Given the description of an element on the screen output the (x, y) to click on. 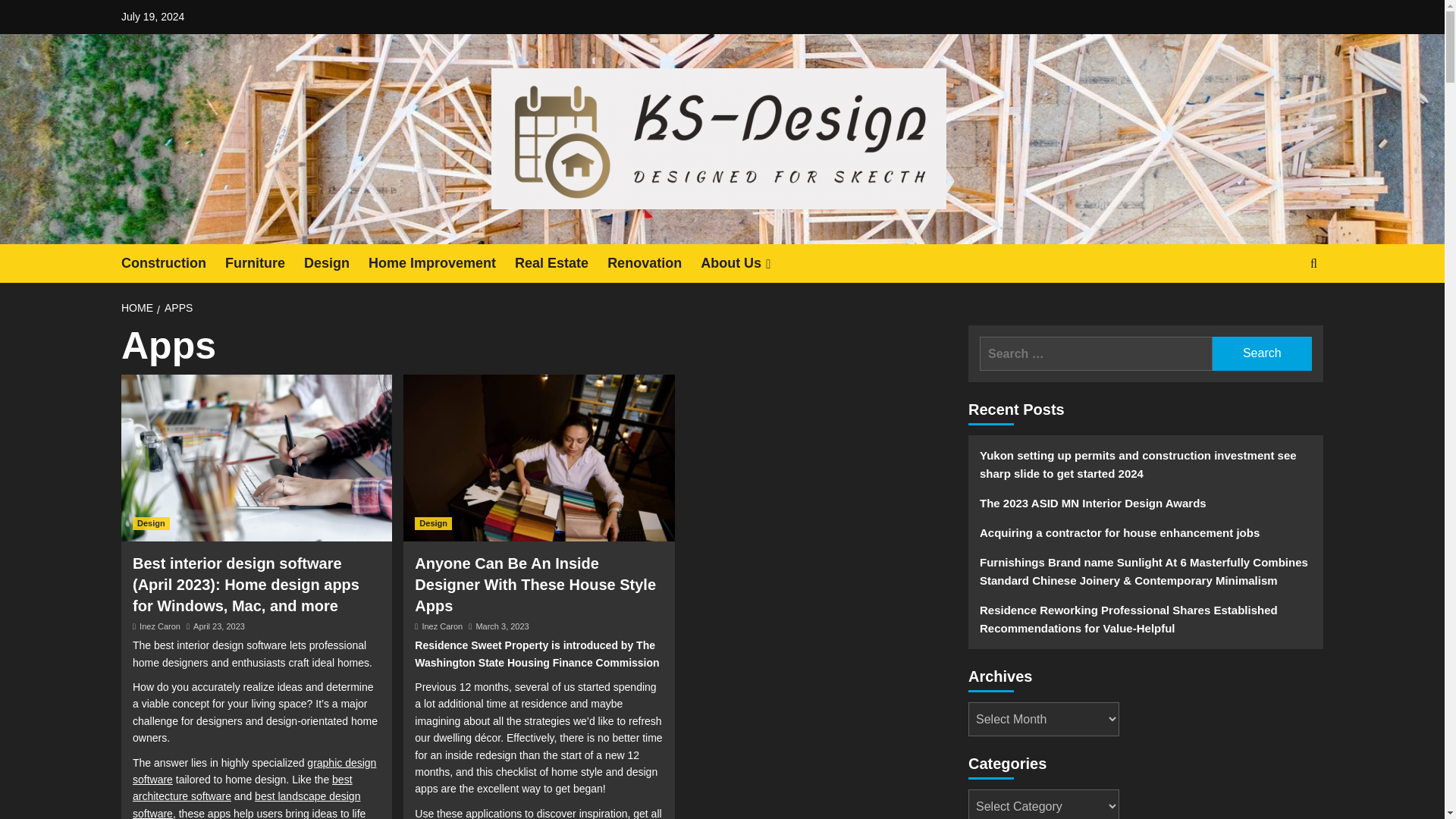
Search (1261, 353)
Construction (172, 263)
Design (151, 522)
Inez Caron (442, 625)
Design (336, 263)
Search (1261, 353)
The 2023 ASID MN Interior Design Awards (1145, 509)
Acquiring a contractor for house enhancement jobs (1145, 538)
April 23, 2023 (218, 625)
Design (432, 522)
March 3, 2023 (502, 625)
Renovation (653, 263)
Search (1261, 353)
About Us (746, 263)
